Given the description of an element on the screen output the (x, y) to click on. 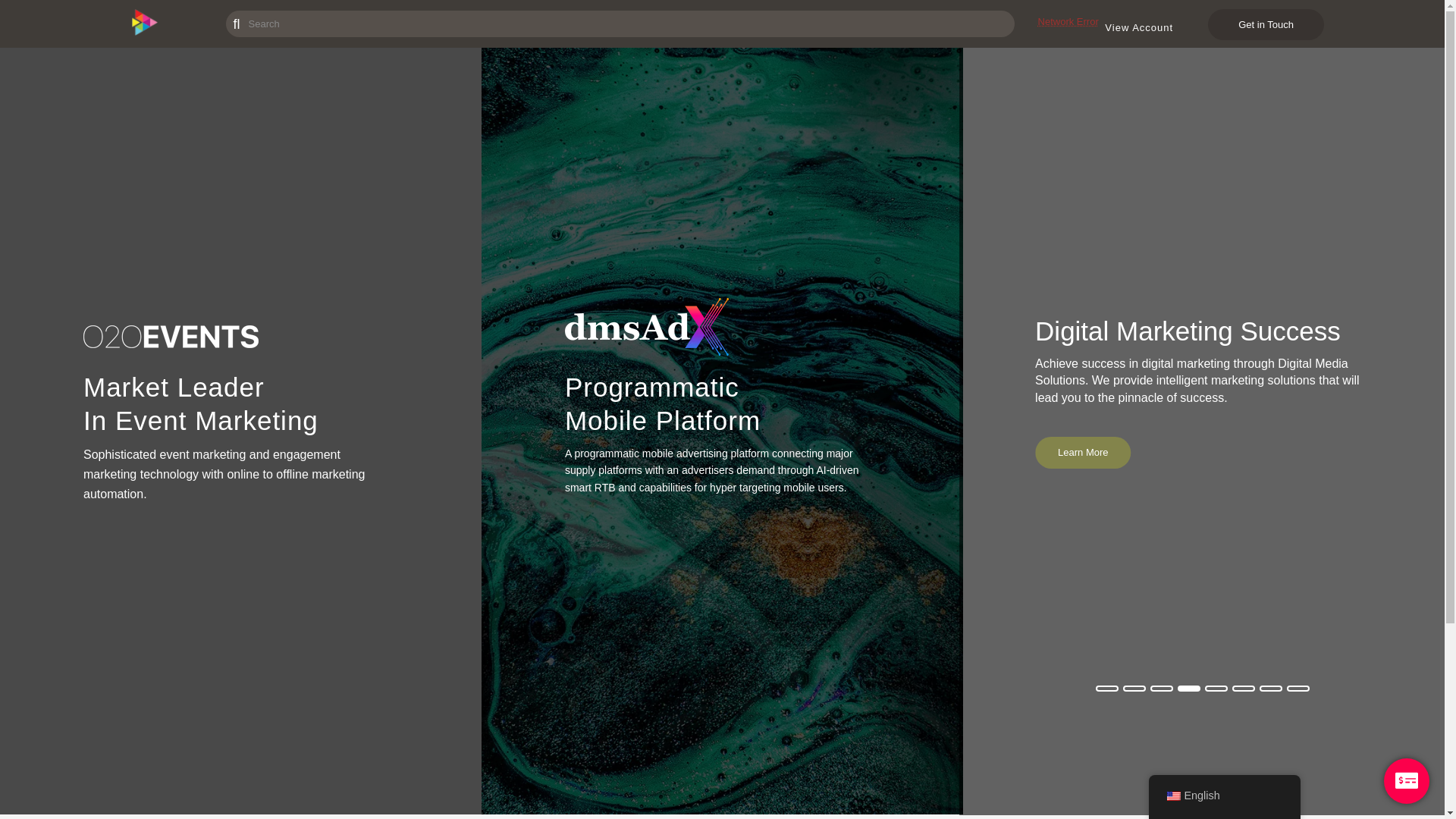
on Element type: text (1406, 780)
Digital Media Solutions Element type: hover (143, 31)
Network Error View Account Element type: text (1111, 23)
5 Element type: text (1215, 688)
7 Element type: text (1270, 688)
6 Element type: text (1243, 688)
Get in Touch Element type: text (1266, 24)
English Element type: text (1223, 795)
Network Error Element type: text (217, 17)
3 Element type: text (1161, 688)
Search Element type: text (29, 14)
2 Element type: text (1134, 688)
4 Element type: text (1188, 688)
Skip to main content Element type: text (0, 47)
Network Error View Account Element type: text (1111, 21)
1 Element type: text (1106, 688)
8 Element type: text (1297, 688)
Get In Touch Element type: text (1085, 469)
English Element type: hover (1172, 795)
